Given the description of an element on the screen output the (x, y) to click on. 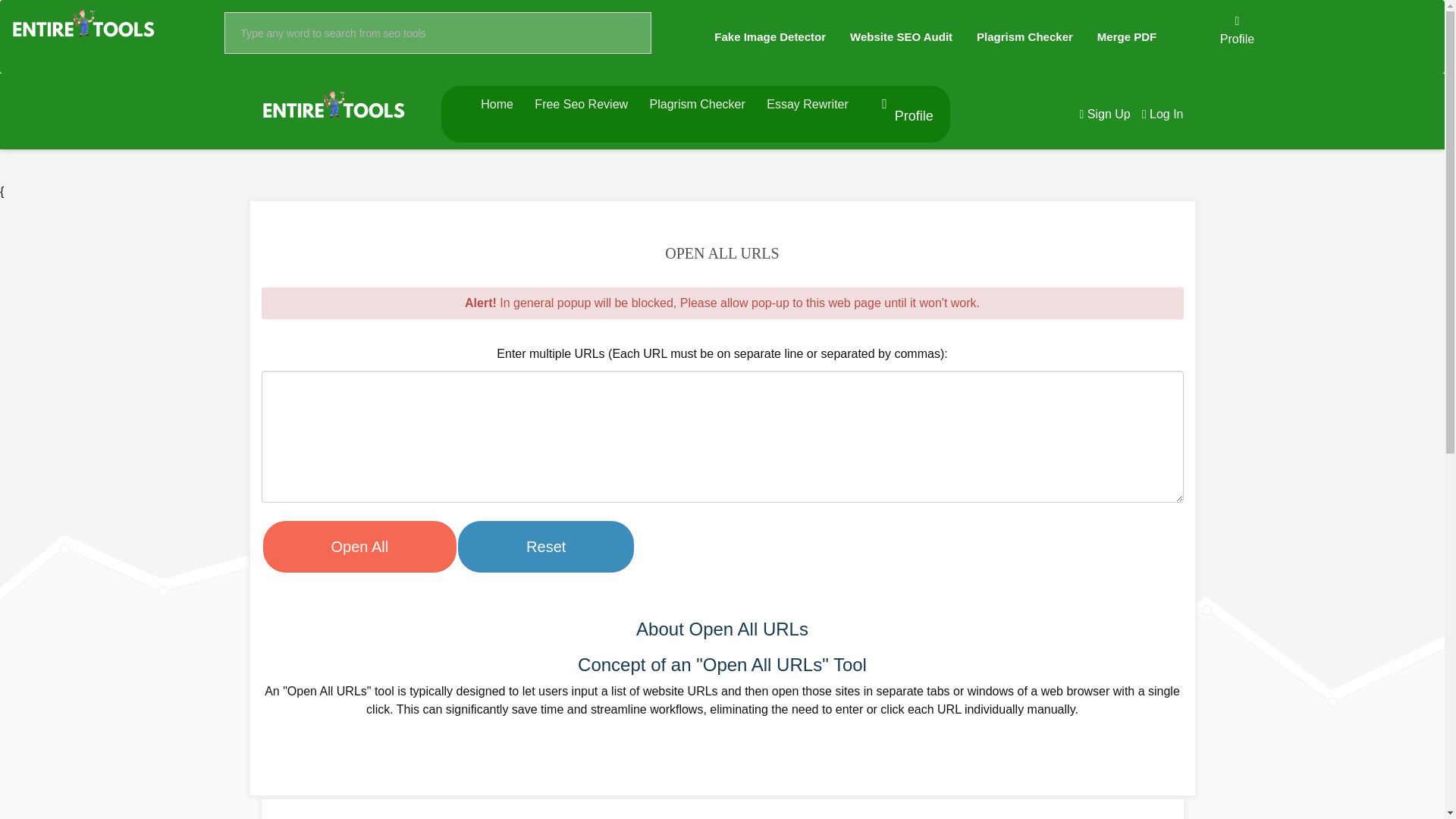
Log In (1162, 113)
Free Seo Review (580, 103)
Merge PDF (1126, 36)
Open All (359, 546)
Essay Rewriter (807, 103)
Plagrism Checker (1024, 36)
Open All URL (359, 546)
Reset Input (545, 546)
Sign Up (1103, 113)
Plagrism Checker (697, 103)
